Given the description of an element on the screen output the (x, y) to click on. 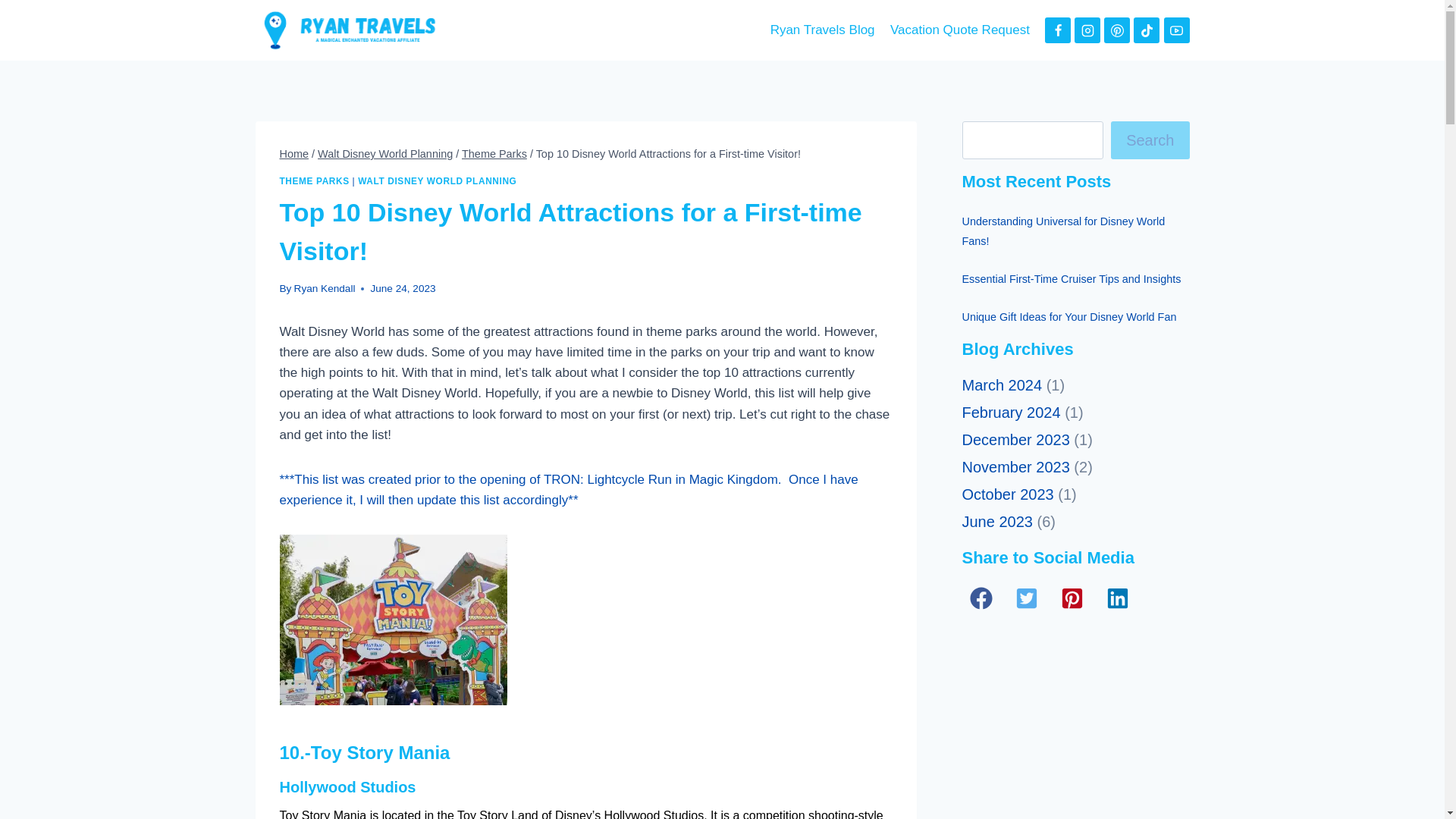
Theme Parks (494, 153)
Ryan Travels Blog (821, 30)
Ryan Kendall (324, 288)
Walt Disney World Planning (384, 153)
WALT DISNEY WORLD PLANNING (437, 181)
Vacation Quote Request (959, 30)
Home (293, 153)
THEME PARKS (314, 181)
